Given the description of an element on the screen output the (x, y) to click on. 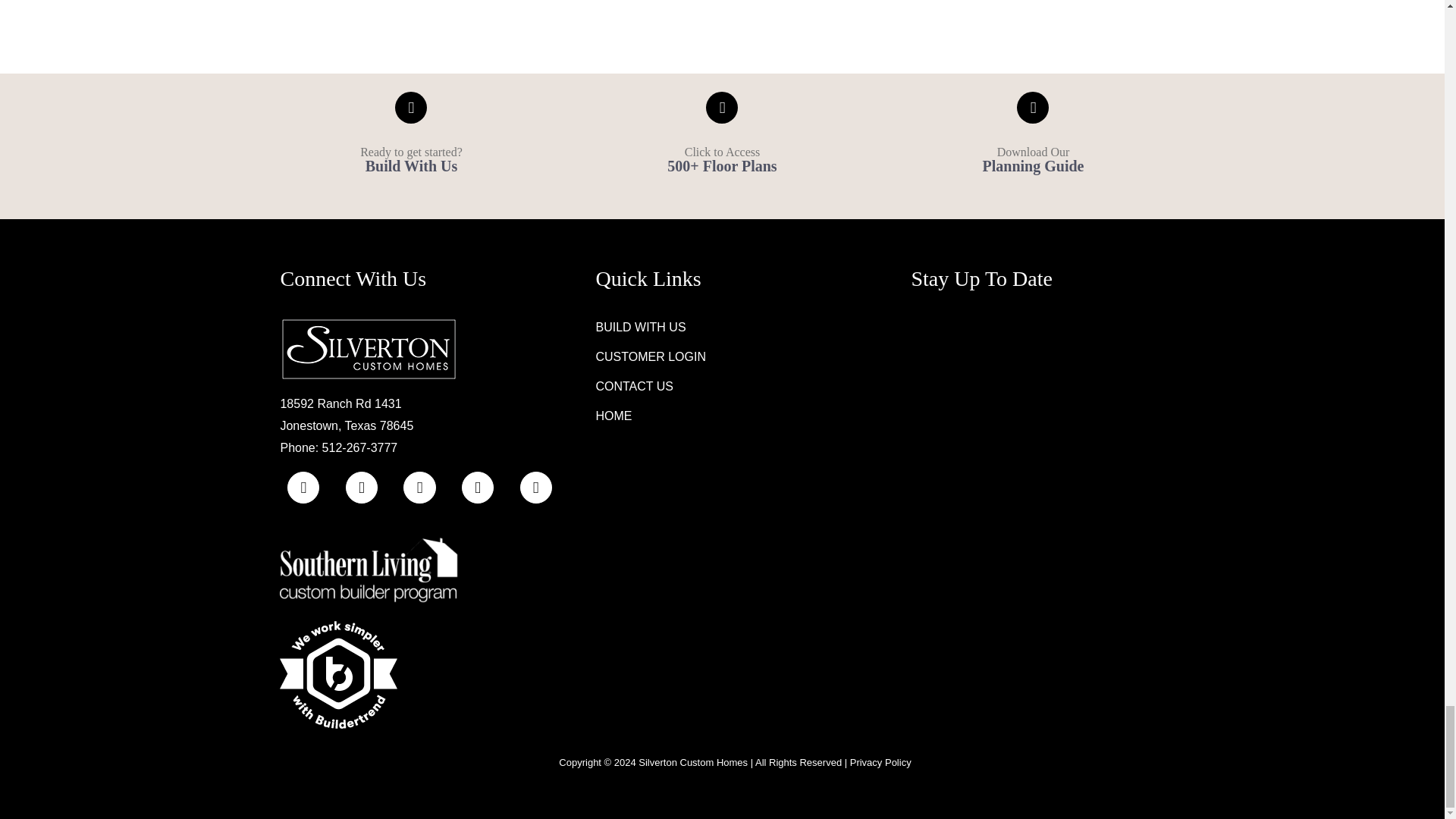
Email Newsletter Sign Up Form (1050, 373)
